Given the description of an element on the screen output the (x, y) to click on. 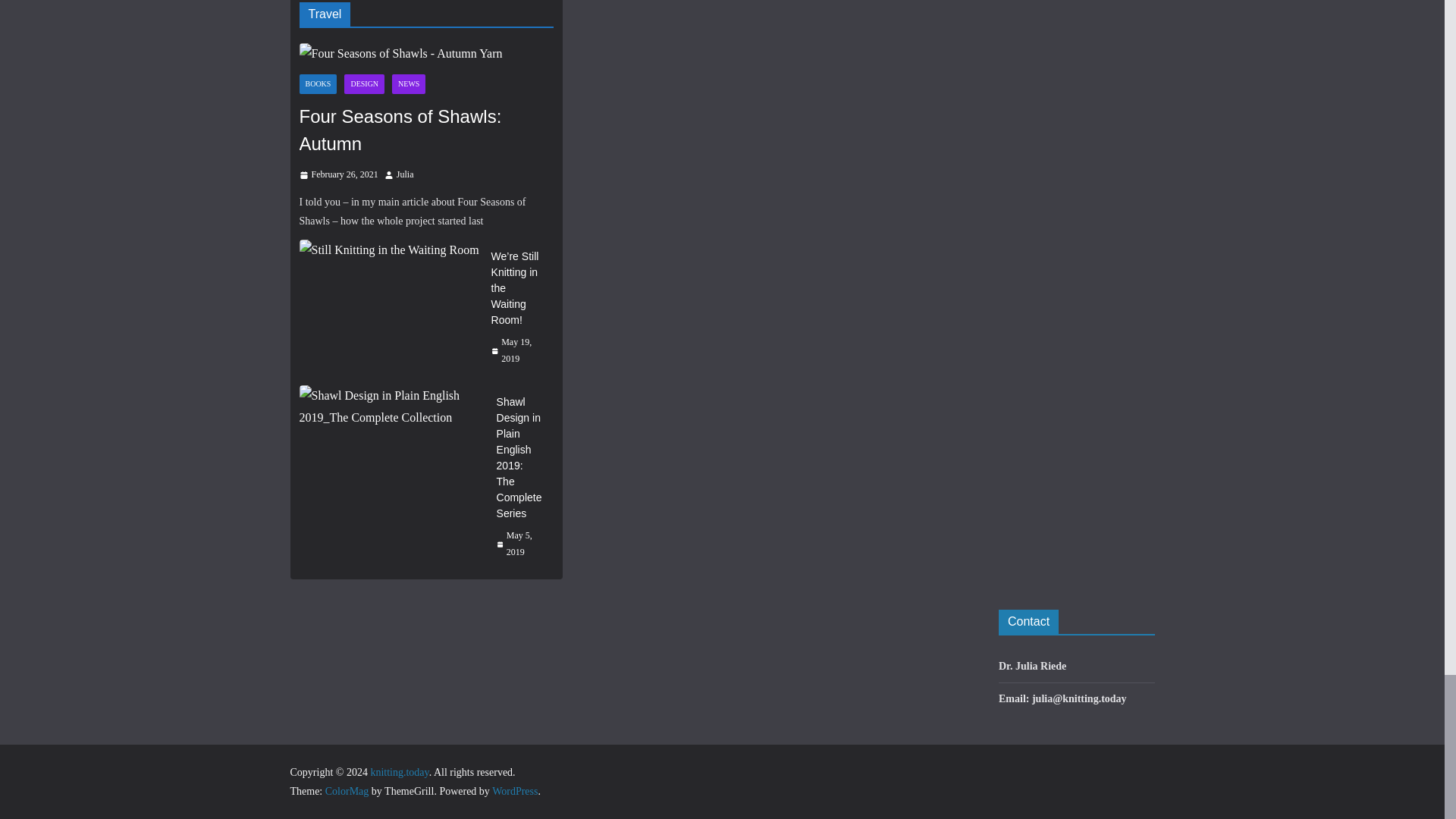
Four Seasons of Shawls: Autumn (425, 130)
Julia (404, 175)
Four Seasons of Shawls: Autumn (425, 54)
6:21 pm (516, 350)
Four Seasons of Shawls: Autumn (400, 54)
10:00 am (337, 175)
